Given the description of an element on the screen output the (x, y) to click on. 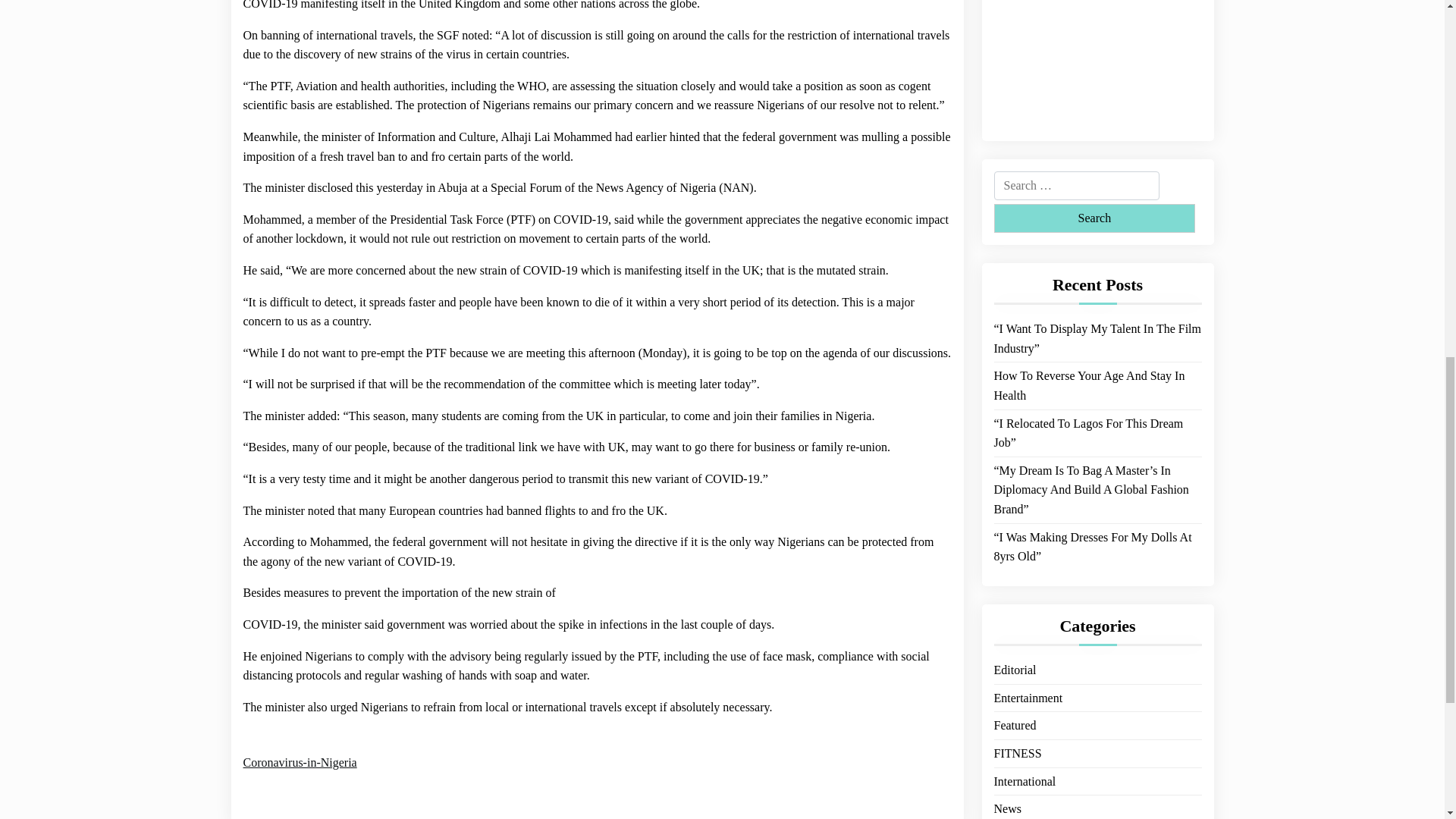
Coronavirus-in-Nigeria (299, 762)
Editorial (1013, 251)
